Given the description of an element on the screen output the (x, y) to click on. 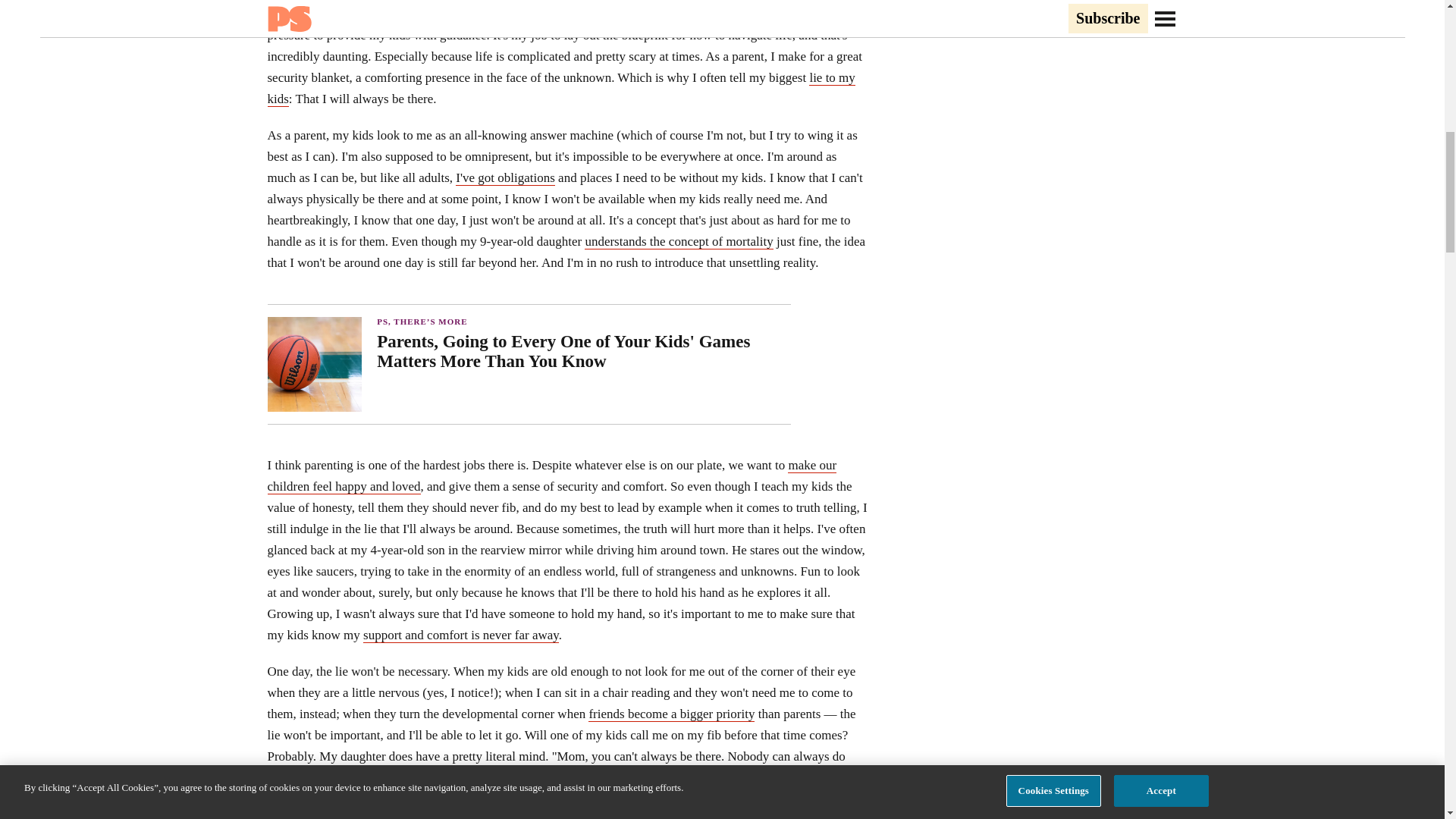
support and comfort is never far away (460, 635)
make our children feel happy and loved (550, 475)
I've got obligations (504, 177)
parents lie (406, 14)
friends become a bigger priority (671, 713)
understands the concept of mortality (679, 241)
lie to my kids (560, 88)
